Given the description of an element on the screen output the (x, y) to click on. 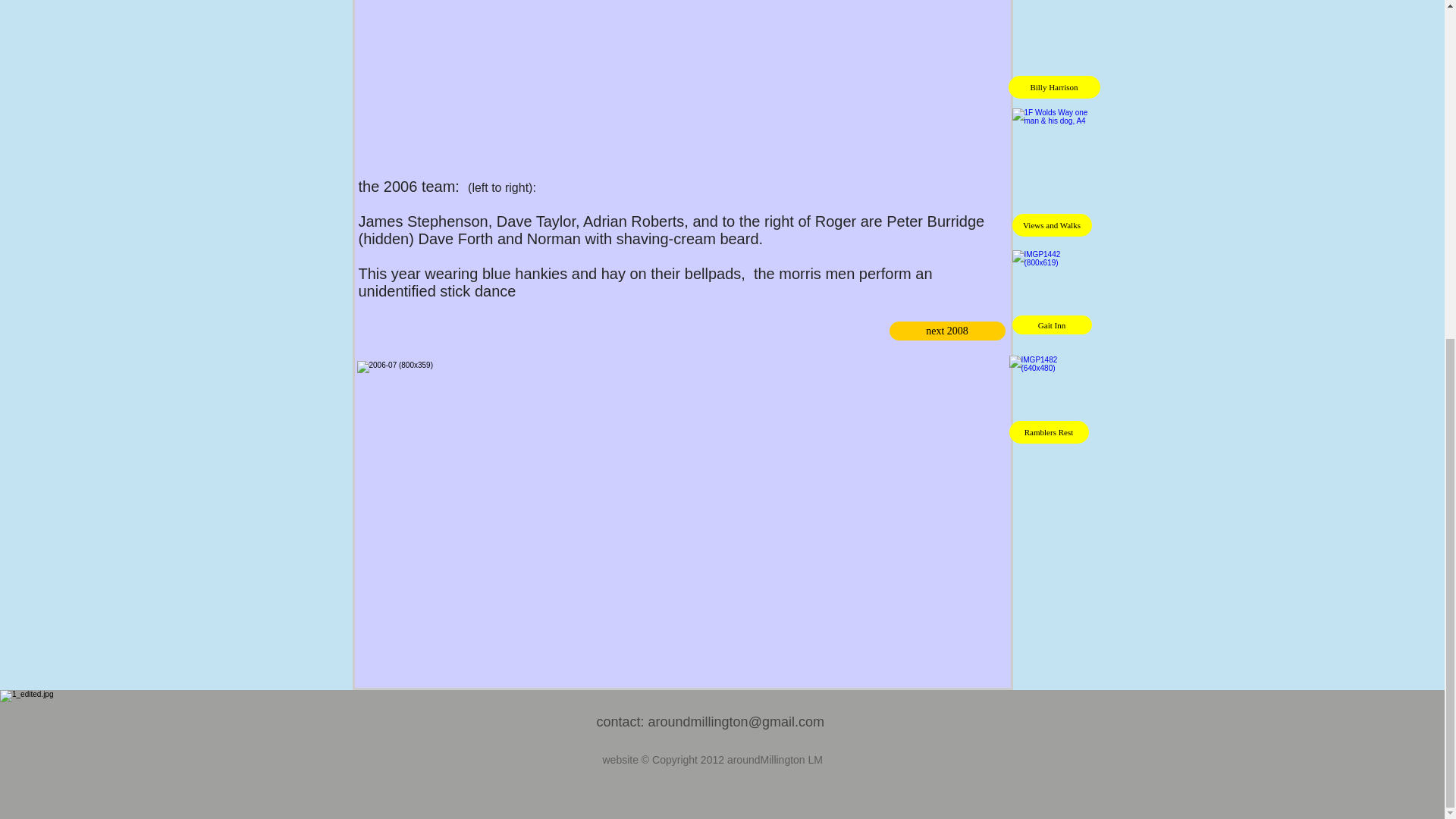
Billy Harrison (1054, 87)
Ramblers Rest (1048, 431)
Views and Walks (1050, 224)
Gait Inn (1050, 324)
next 2008 (946, 330)
